Given the description of an element on the screen output the (x, y) to click on. 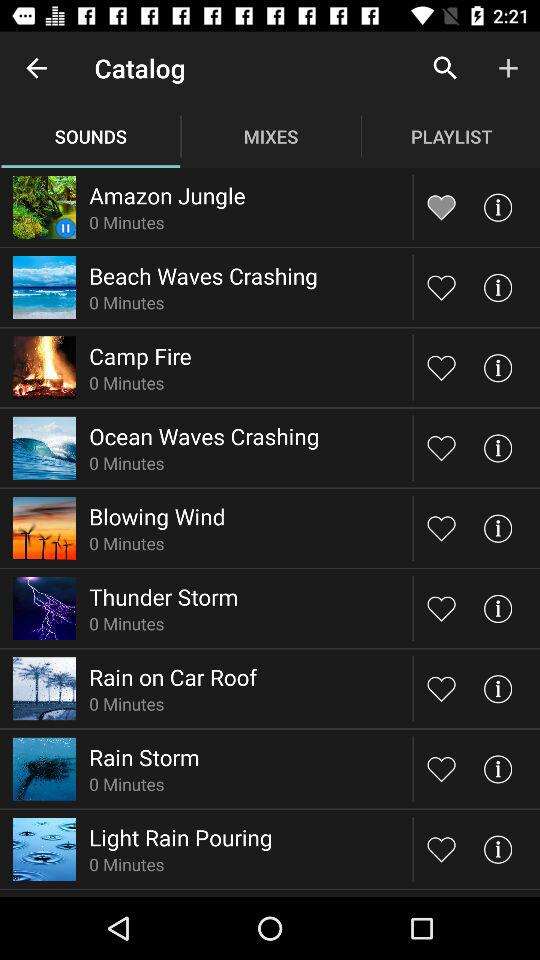
favorite button (441, 287)
